Given the description of an element on the screen output the (x, y) to click on. 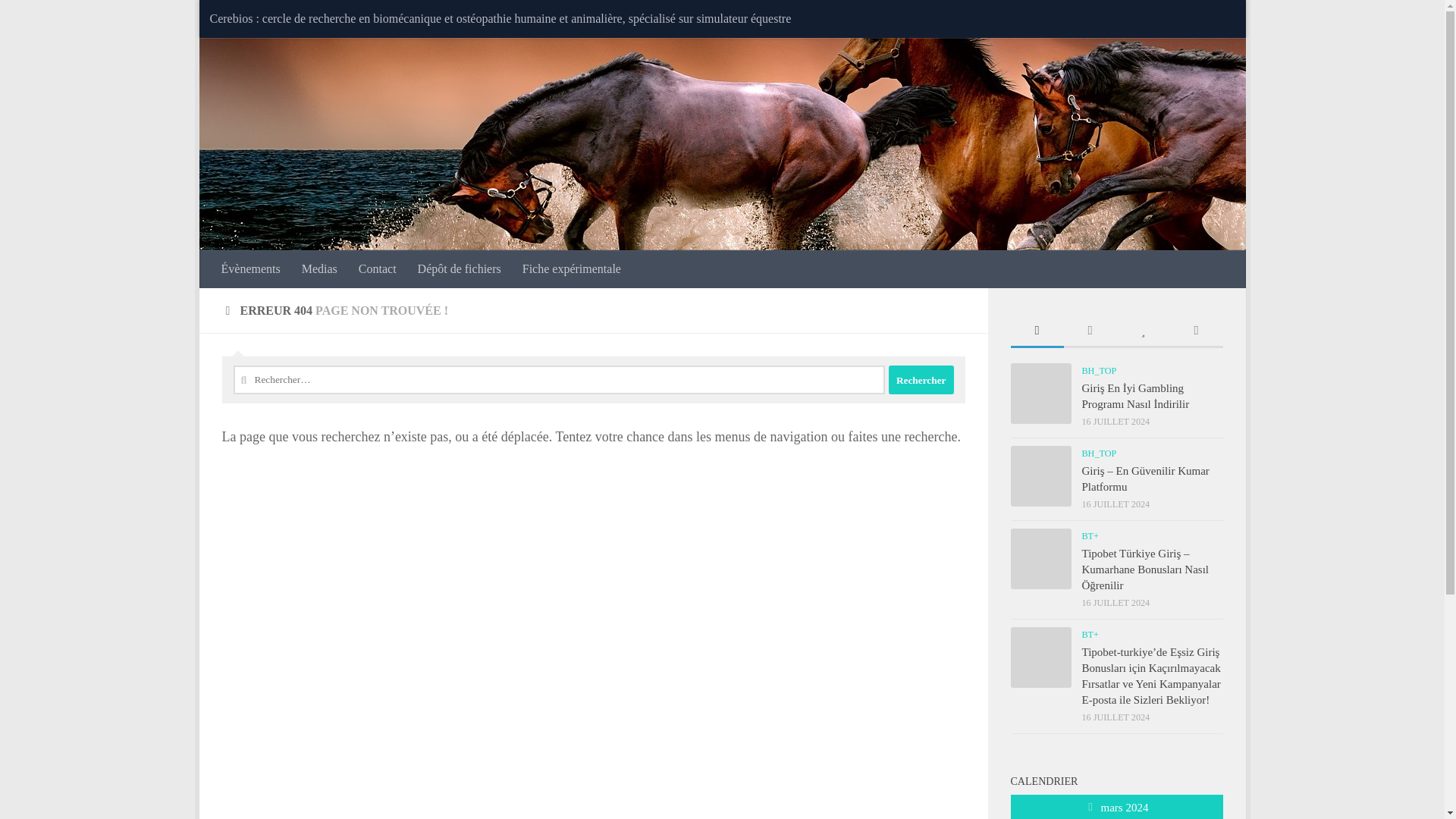
Rechercher (920, 379)
Rechercher (920, 379)
Rechercher (920, 379)
Articles populaires (1142, 331)
Contact (377, 269)
Medias (319, 269)
Skip to content (258, 20)
